Given the description of an element on the screen output the (x, y) to click on. 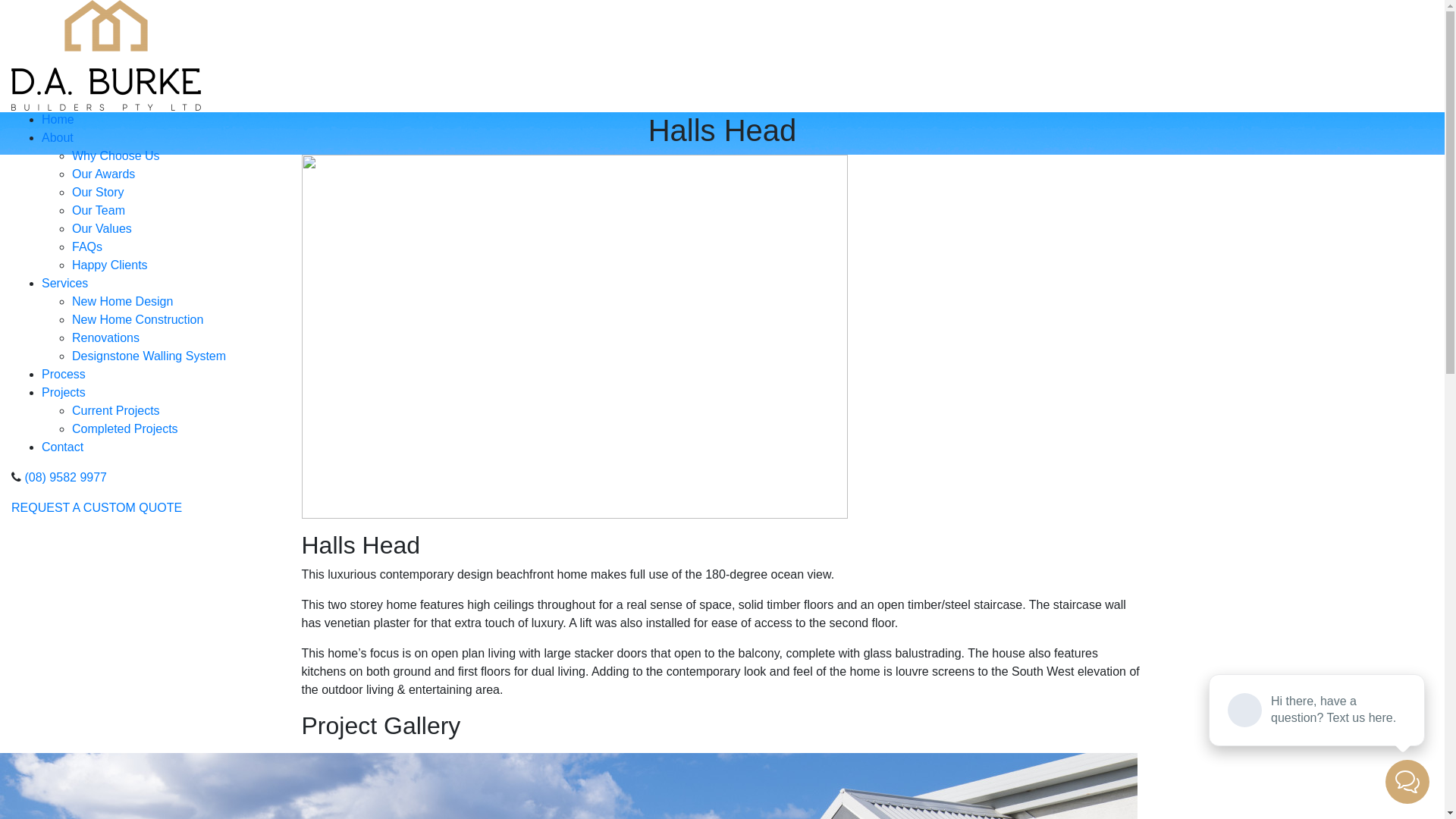
Contact Element type: text (62, 446)
Our Awards Element type: text (103, 173)
Our Team Element type: text (98, 209)
(08) 9582 9977 Element type: text (65, 476)
Why Choose Us Element type: text (116, 155)
New Home Design Element type: text (122, 300)
Projects Element type: text (63, 391)
Our Story Element type: text (97, 191)
FAQs Element type: text (87, 246)
Current Projects Element type: text (116, 410)
REQUEST A CUSTOM QUOTE Element type: text (96, 507)
Designstone Walling System Element type: text (148, 355)
Completed Projects Element type: text (125, 428)
Happy Clients Element type: text (109, 264)
Renovations Element type: text (105, 337)
Our Values Element type: text (101, 228)
Process Element type: text (63, 373)
New Home Construction Element type: text (137, 319)
Services Element type: text (64, 282)
About Element type: text (57, 137)
Home Element type: text (57, 118)
